Given the description of an element on the screen output the (x, y) to click on. 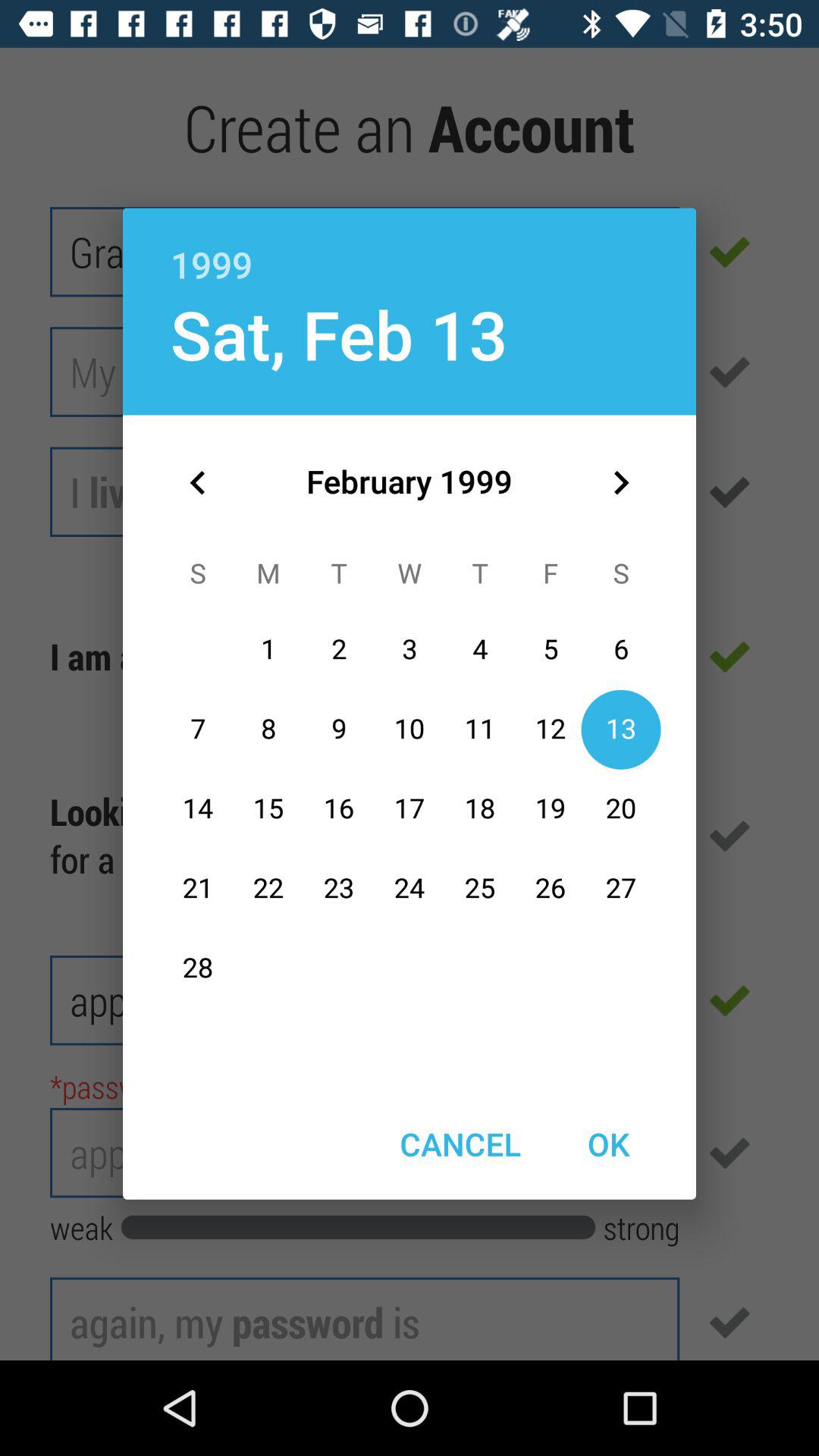
choose the cancel at the bottom (459, 1143)
